Given the description of an element on the screen output the (x, y) to click on. 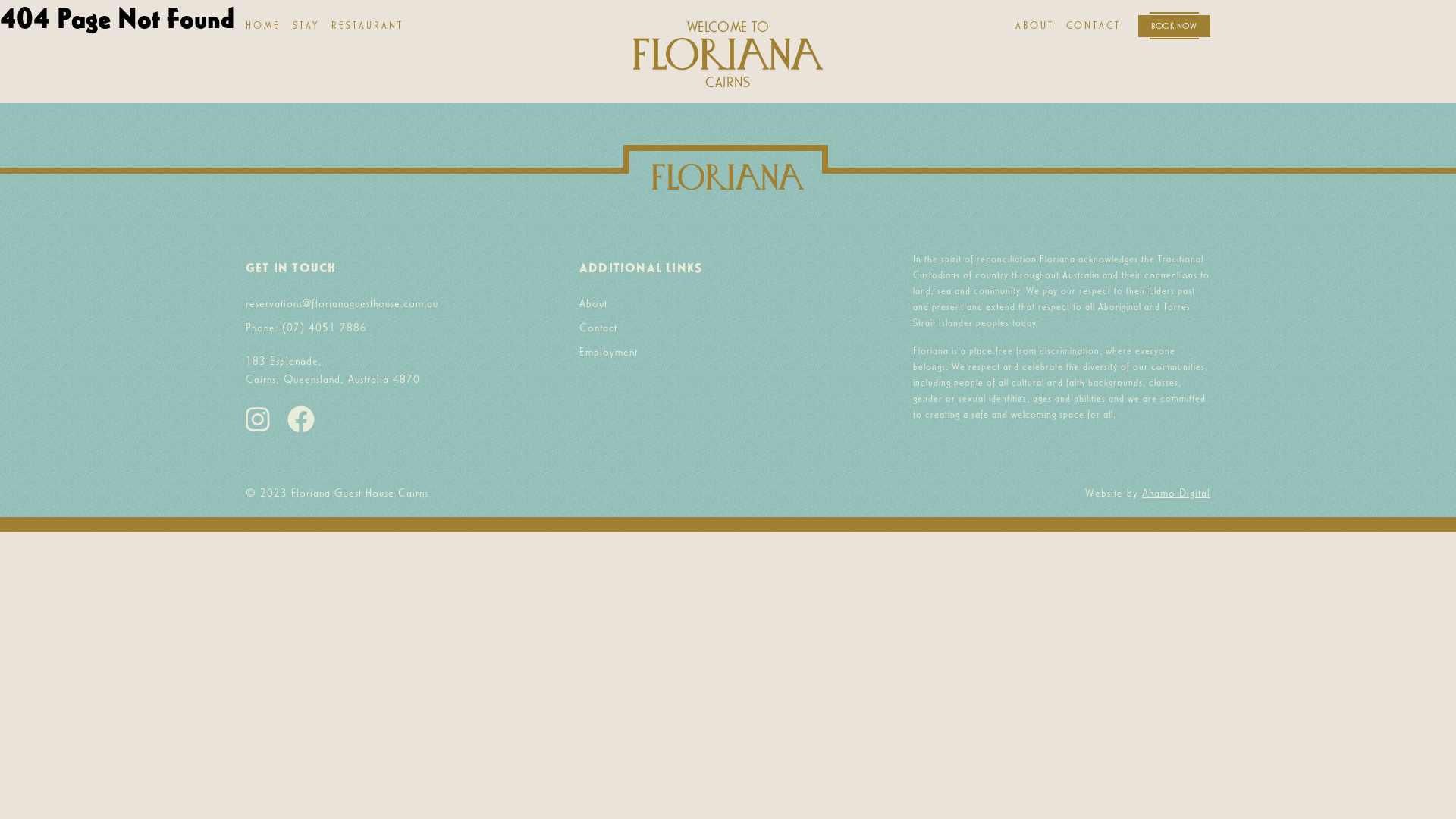
Ahamo Digital Element type: text (1176, 492)
STAY Element type: text (305, 25)
ABOUT Element type: text (1034, 25)
HOME Element type: text (262, 25)
Employment Element type: text (608, 351)
reservations@florianaguesthouse.com.au Element type: text (341, 302)
WELCOME TO
CAIRNS Element type: text (727, 54)
CONTACT Element type: text (1093, 25)
Contact Element type: text (598, 327)
BOOK NOW Element type: text (1174, 26)
About Element type: text (593, 302)
RESTAURANT Element type: text (367, 25)
